Given the description of an element on the screen output the (x, y) to click on. 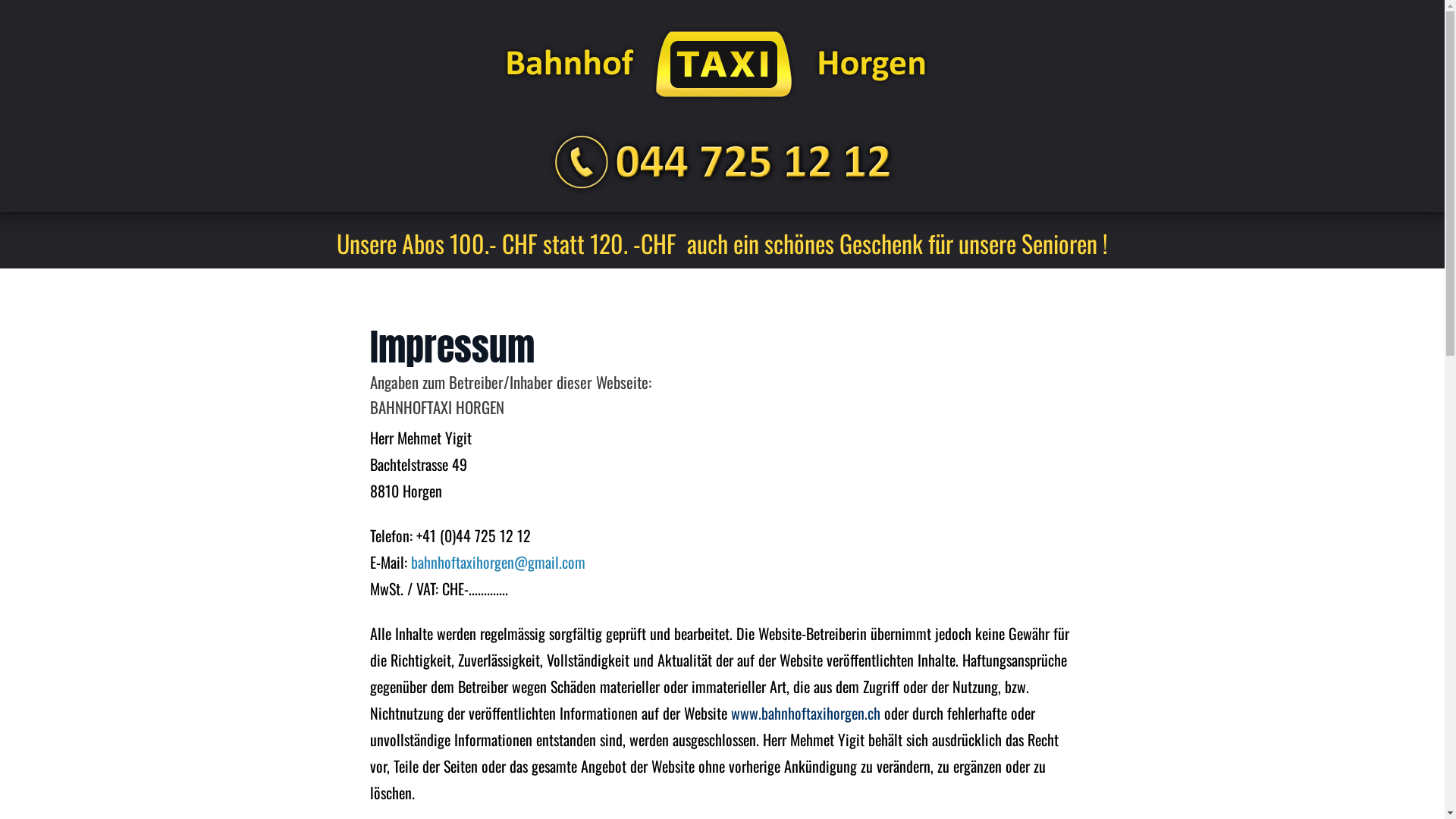
Bahnhoftaxi Horgen Element type: hover (716, 63)
bahnhoftaxihorgen@gmail.com Element type: text (498, 561)
